Given the description of an element on the screen output the (x, y) to click on. 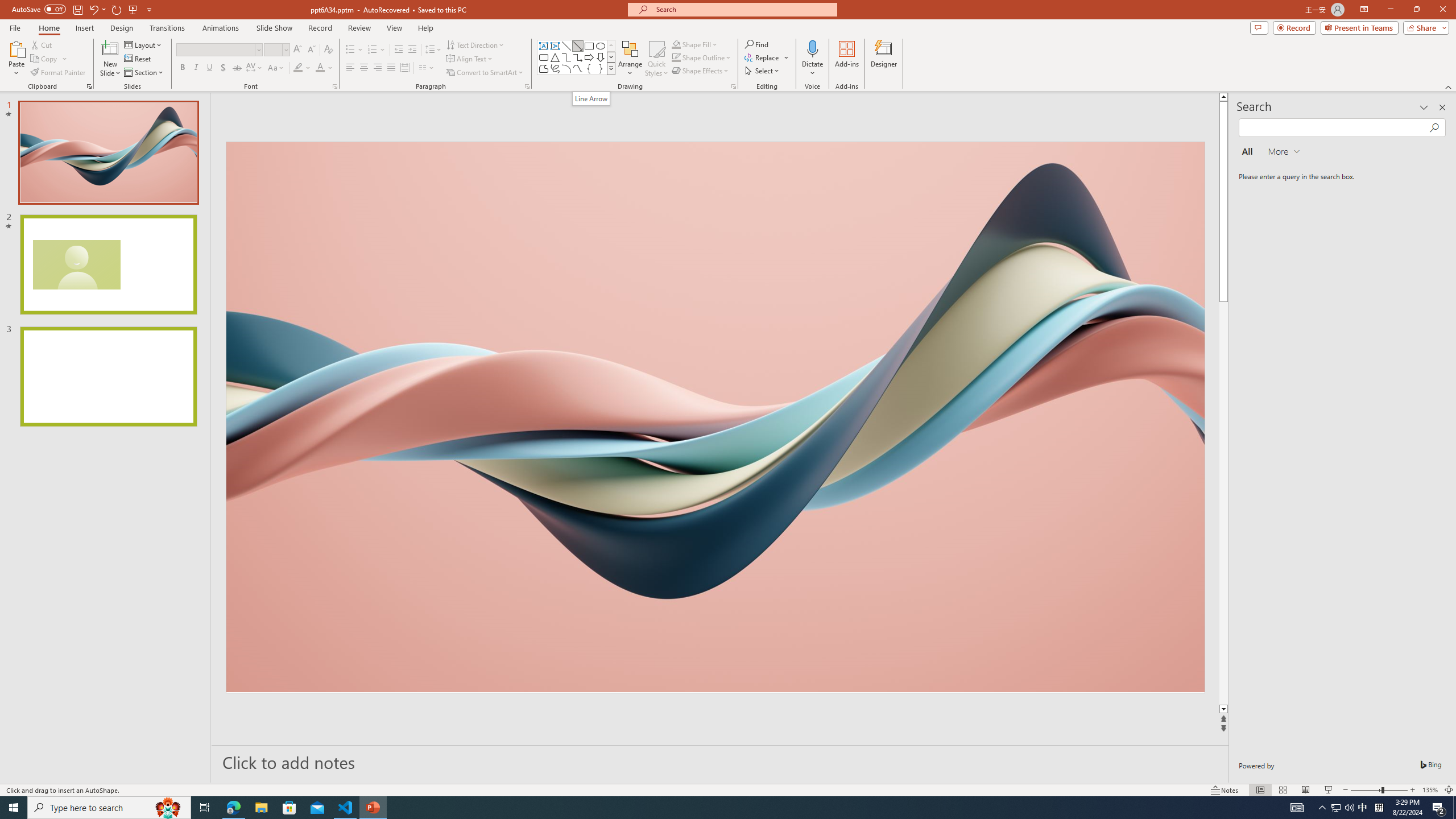
Wavy 3D art (714, 417)
Office Clipboard... (88, 85)
Arc (566, 68)
Line up (1223, 96)
Convert to SmartArt (485, 72)
Distributed (404, 67)
Bold (182, 67)
Line Spacing (433, 49)
Find... (756, 44)
Shape Effects (700, 69)
Select (762, 69)
Class: NetUIImage (610, 68)
